Given the description of an element on the screen output the (x, y) to click on. 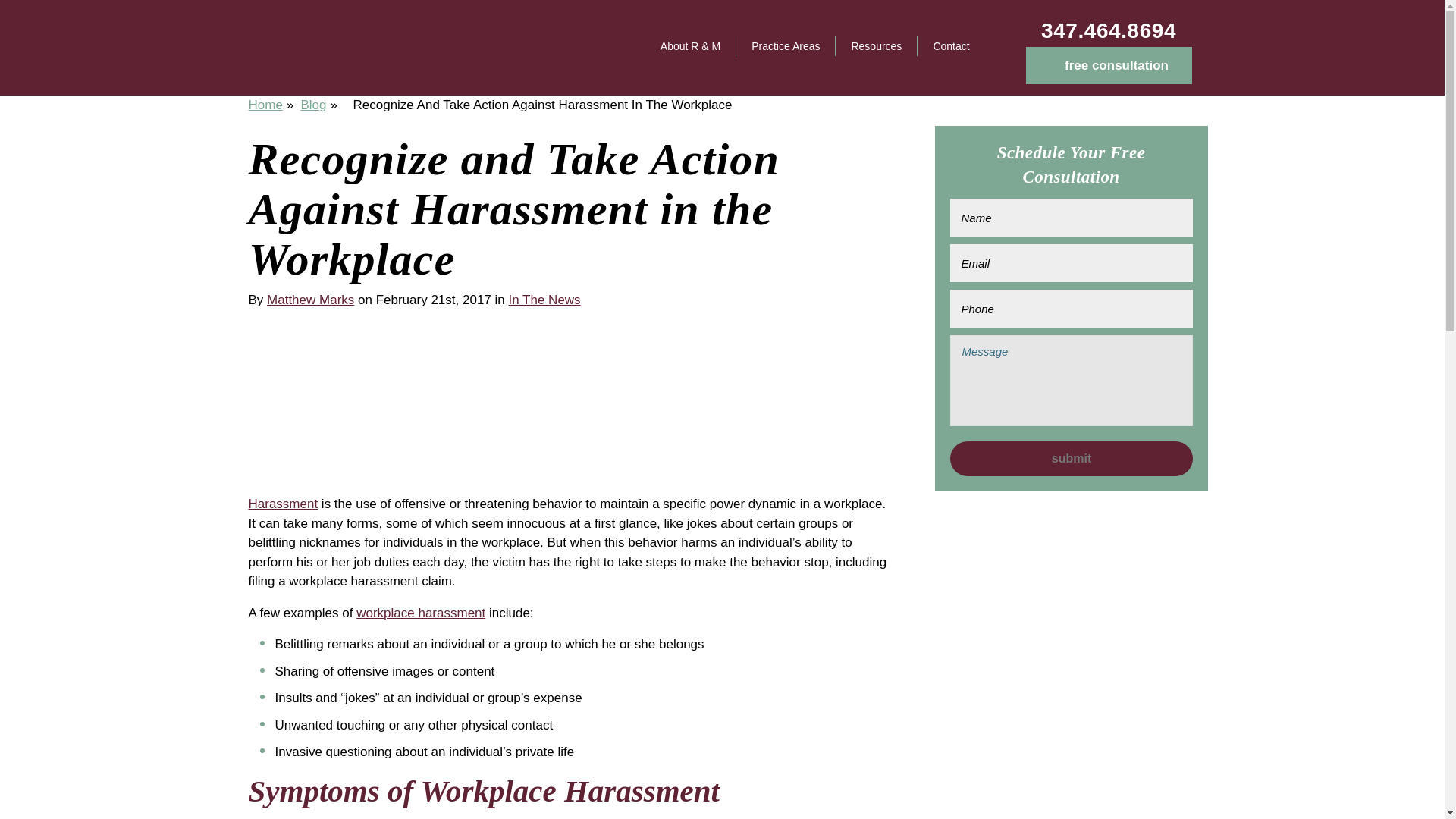
submit (1070, 458)
Posts by Matthew Marks (309, 299)
